Given the description of an element on the screen output the (x, y) to click on. 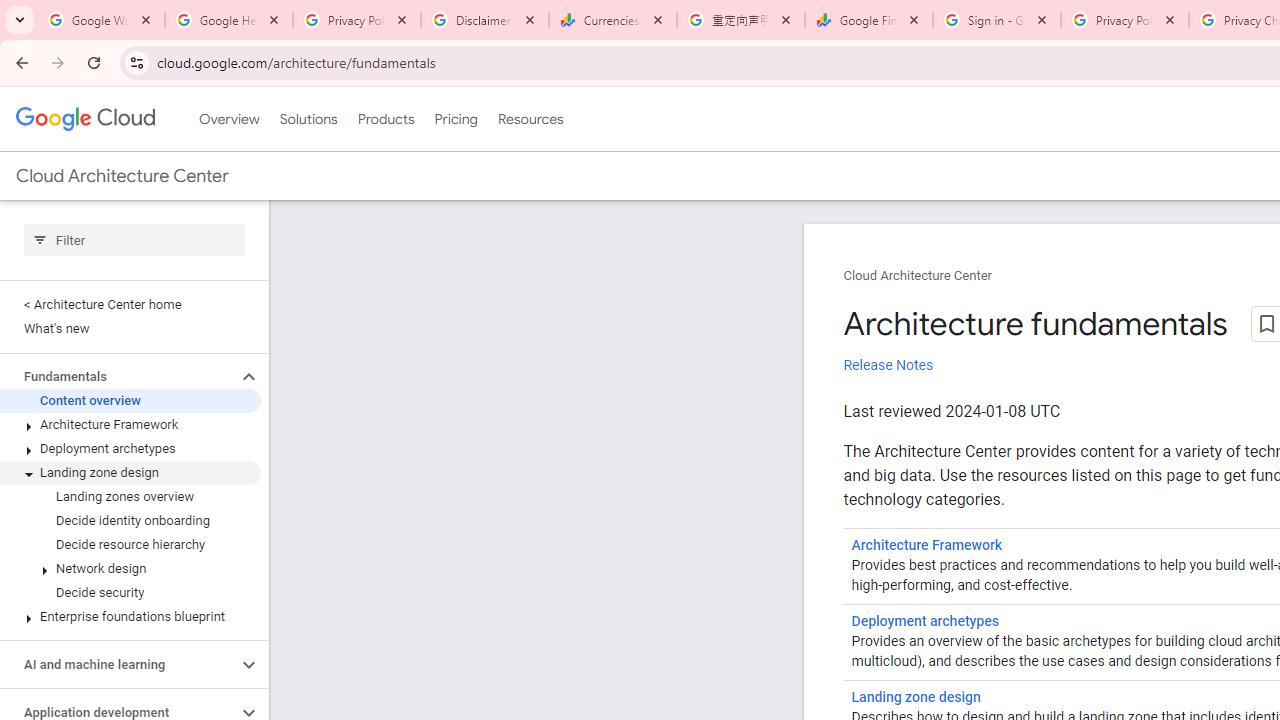
Deployment archetypes (924, 621)
Landing zones overview (130, 497)
Content overview (130, 400)
Resources (530, 119)
Decide security (130, 592)
Currencies - Google Finance (613, 20)
Landing zone design (130, 472)
Architecture Framework (927, 545)
Type to filter (134, 239)
